Given the description of an element on the screen output the (x, y) to click on. 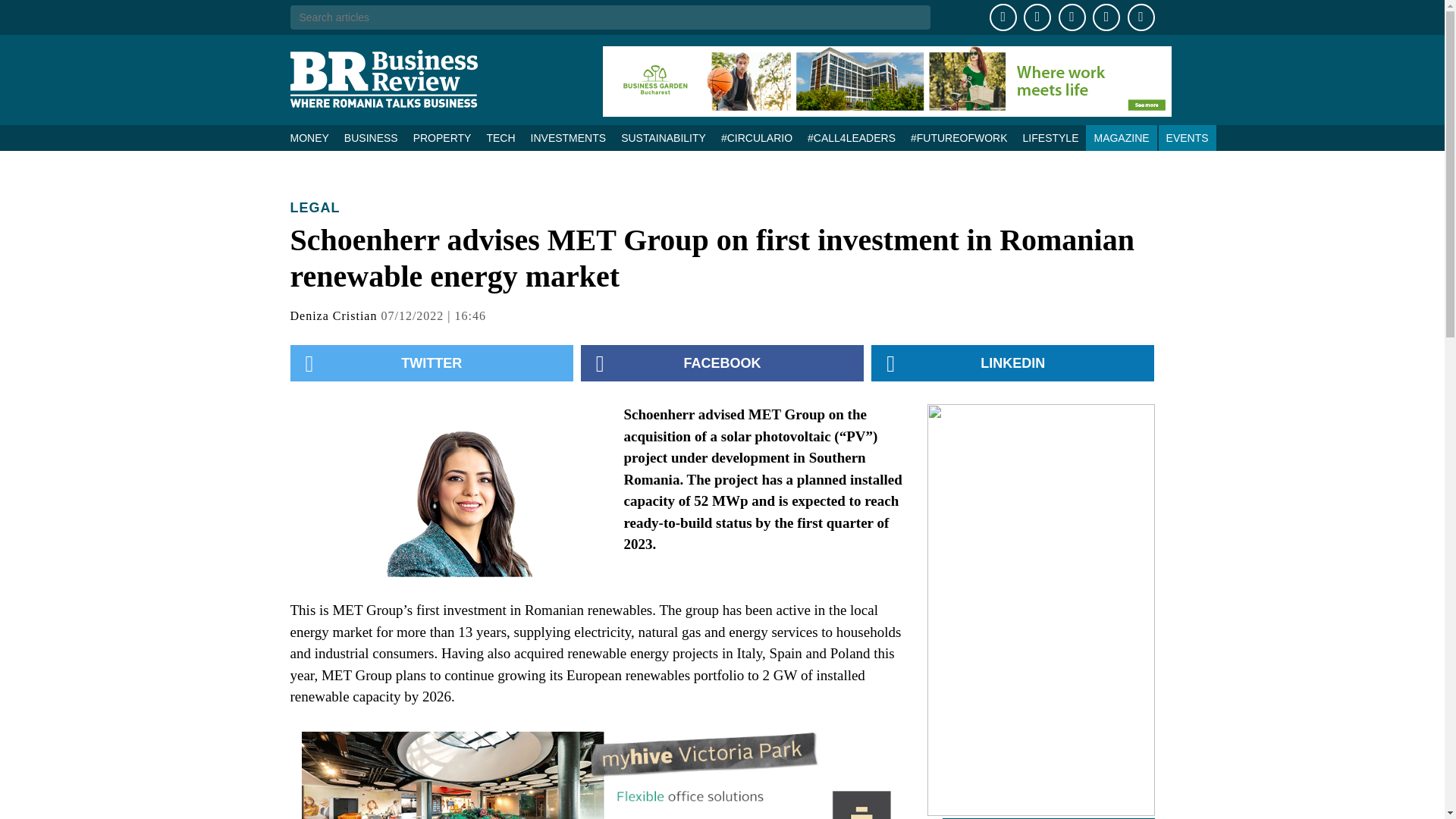
LINKEDIN (1012, 362)
LEGAL (314, 207)
TWITTER (430, 362)
TECH (500, 137)
BUSINESS (371, 137)
MAGAZINE (1121, 137)
PROPERTY (442, 137)
SUSTAINABILITY (662, 137)
MONEY (312, 137)
LIFESTYLE (1050, 137)
